Given the description of an element on the screen output the (x, y) to click on. 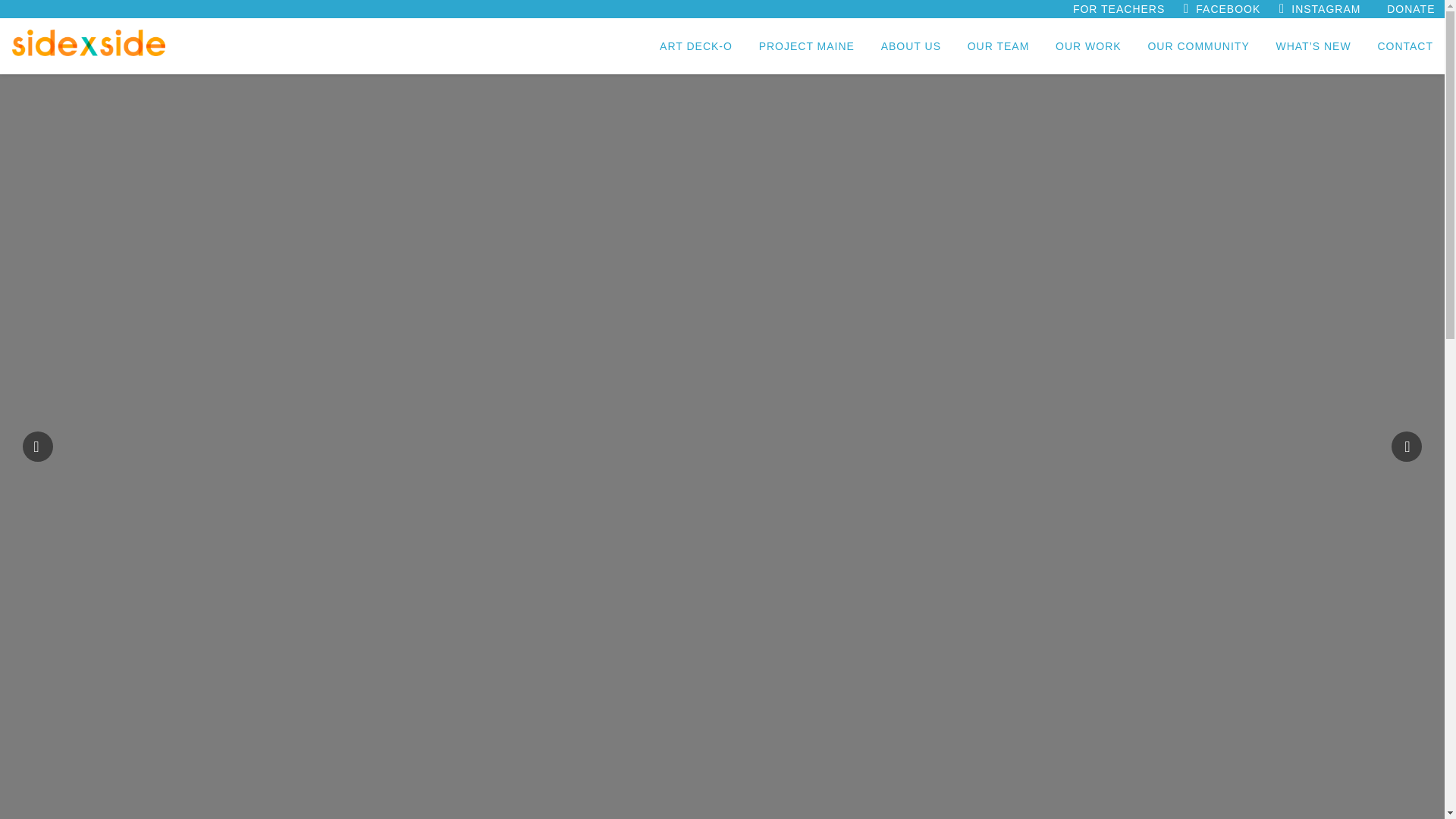
DONATE (1414, 9)
OUR WORK (1087, 46)
FACEBOOK (1231, 9)
ART DECK-O (695, 46)
OUR TEAM (998, 46)
PROJECT MAINE (807, 46)
OUR COMMUNITY (1197, 46)
INSTAGRAM (1329, 9)
ABOUT US (910, 46)
FOR TEACHERS (1122, 9)
